Given the description of an element on the screen output the (x, y) to click on. 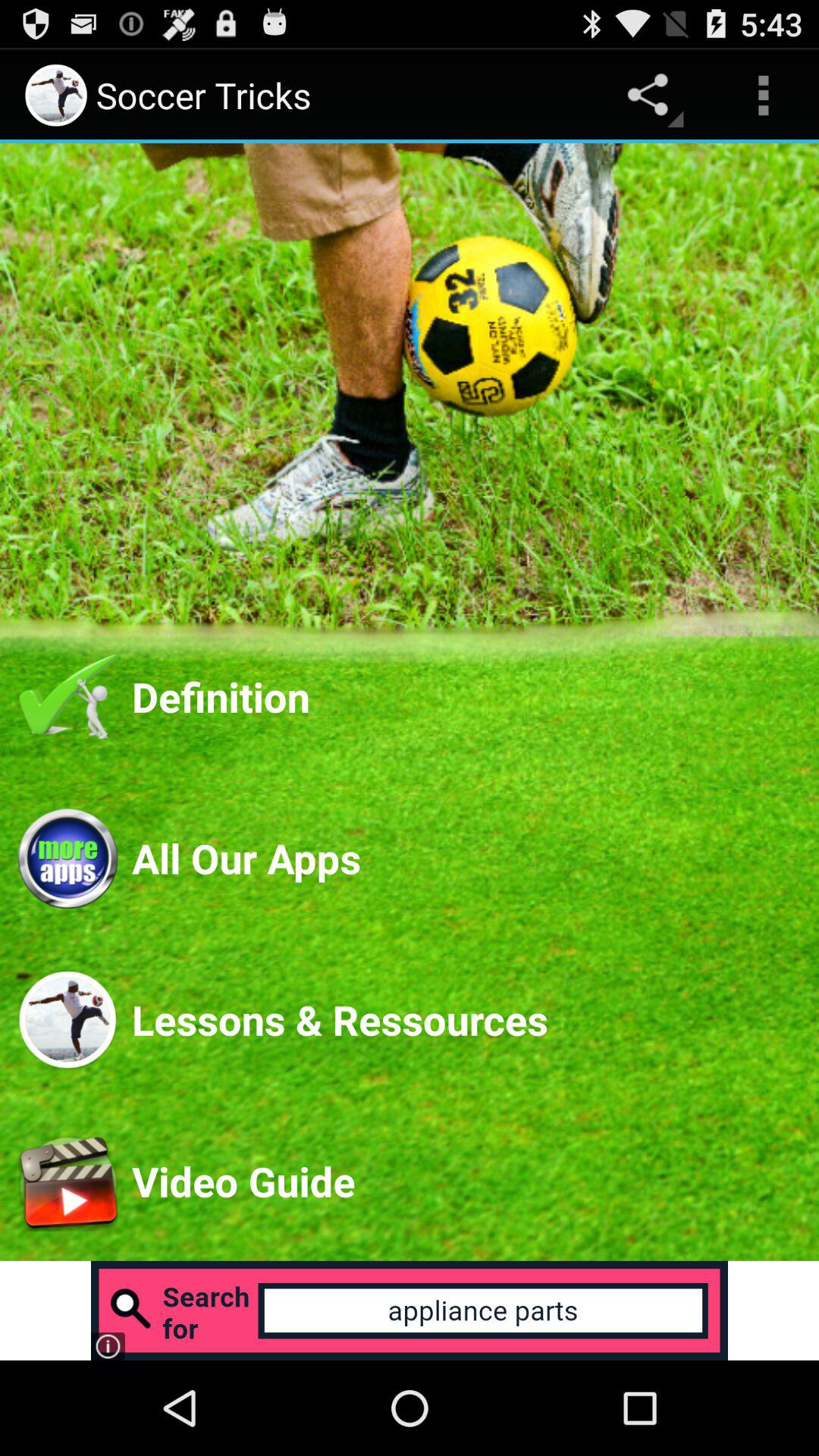
select definition (465, 696)
